Given the description of an element on the screen output the (x, y) to click on. 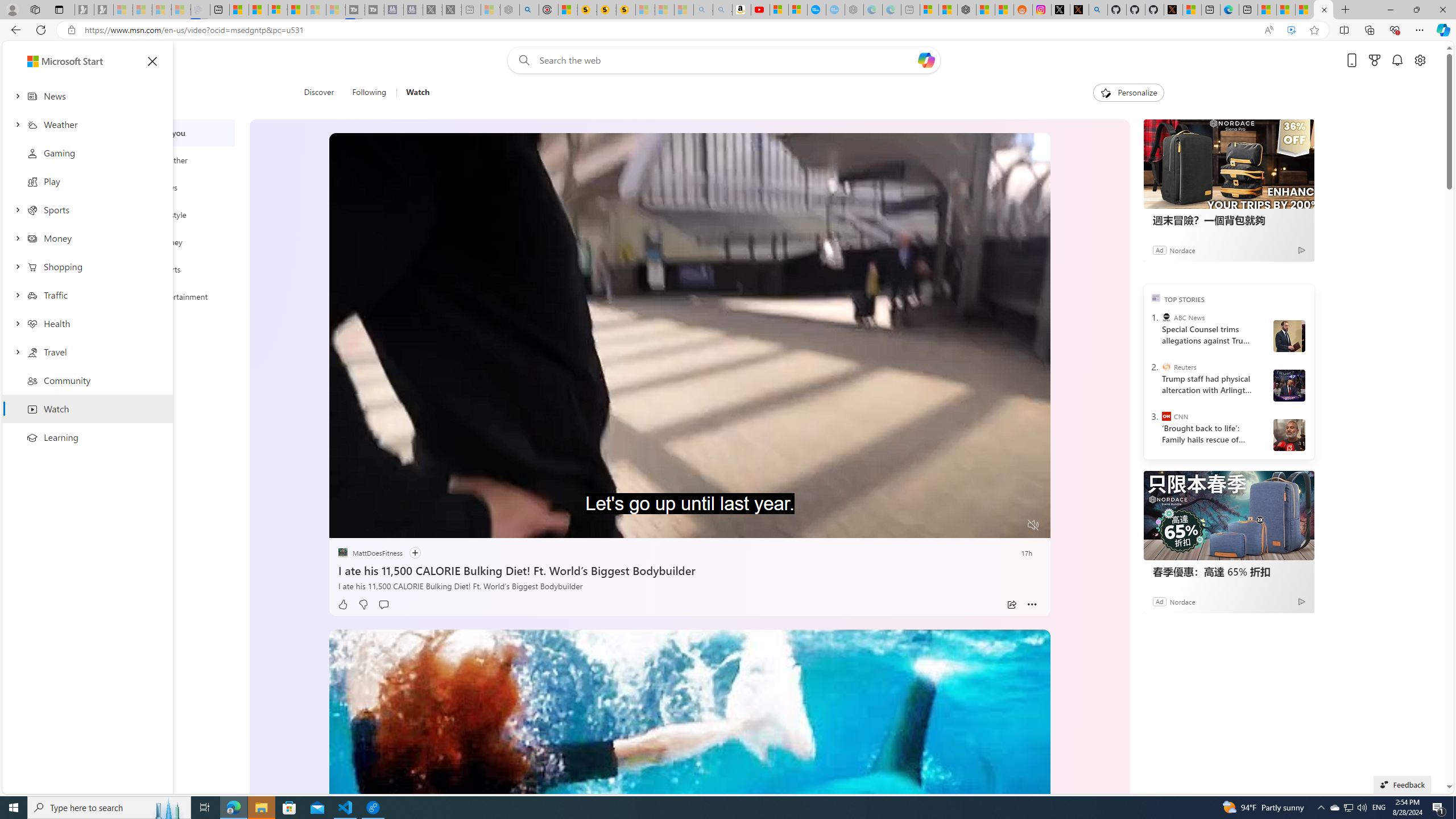
github - Search (1098, 9)
Seek Back (368, 525)
Amazon Echo Dot PNG - Search Images - Sleeping (721, 9)
The most popular Google 'how to' searches - Sleeping (835, 9)
Wildlife - MSN - Sleeping (490, 9)
Reuters (1165, 366)
